Given the description of an element on the screen output the (x, y) to click on. 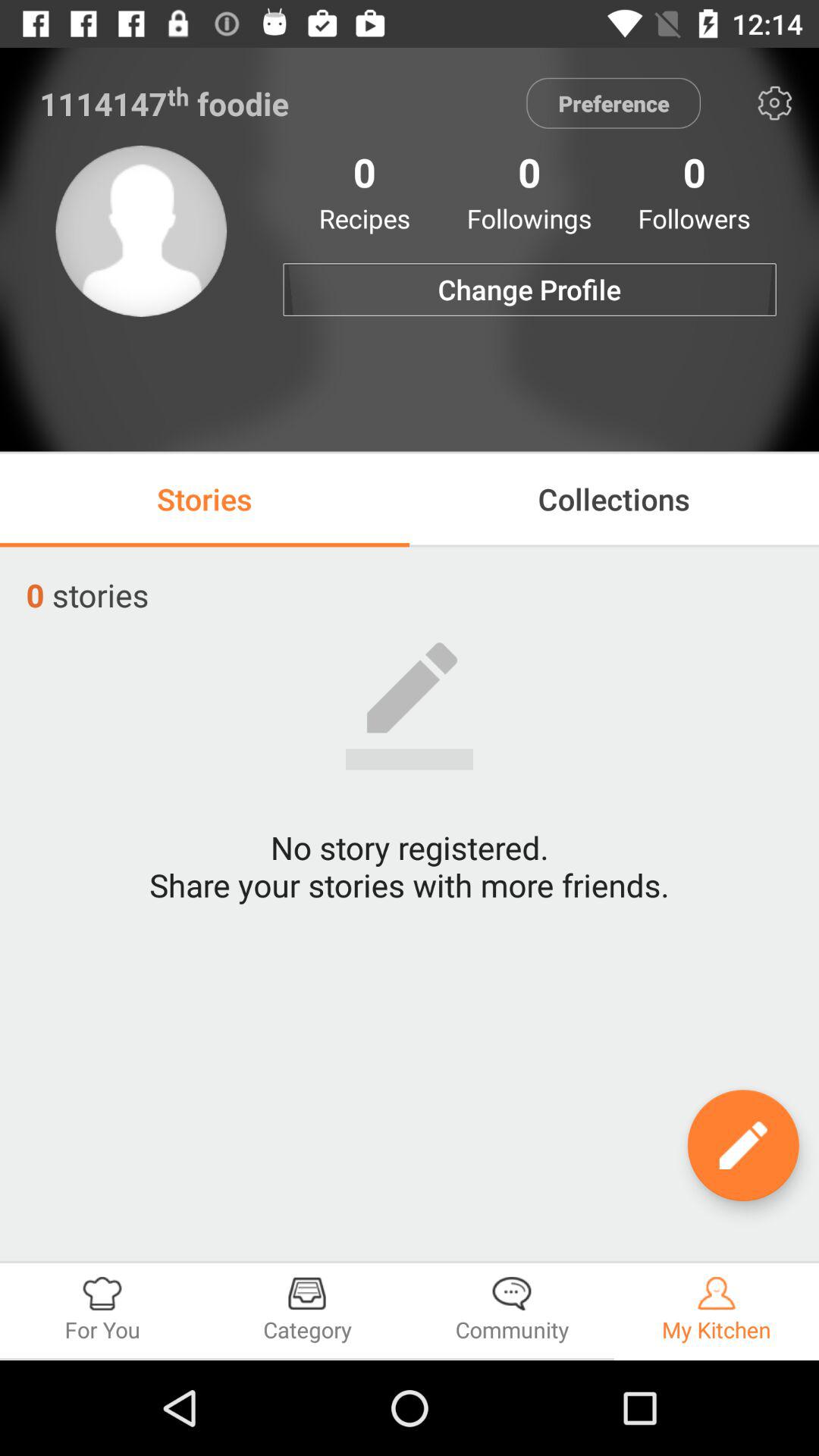
create a post (743, 1145)
